Given the description of an element on the screen output the (x, y) to click on. 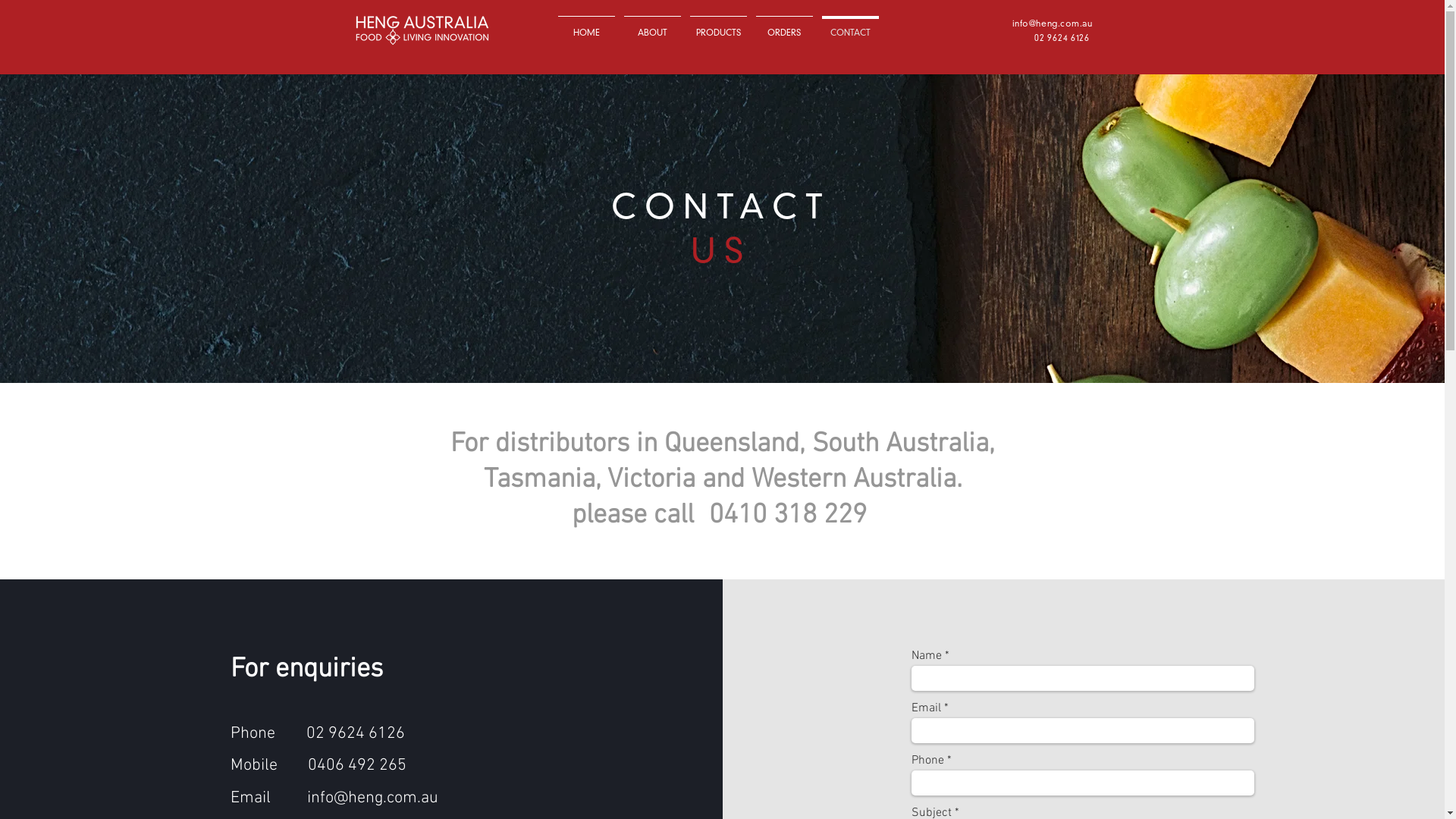
info@heng.com.au Element type: text (1052, 24)
HOME Element type: text (586, 26)
ABOUT Element type: text (651, 26)
ORDERS Element type: text (783, 26)
Heng_logo_white_transparent (Small).png Element type: hover (418, 26)
info@heng.com.au Element type: text (372, 797)
PRODUCTS Element type: text (718, 26)
CONTACT Element type: text (850, 26)
